Given the description of an element on the screen output the (x, y) to click on. 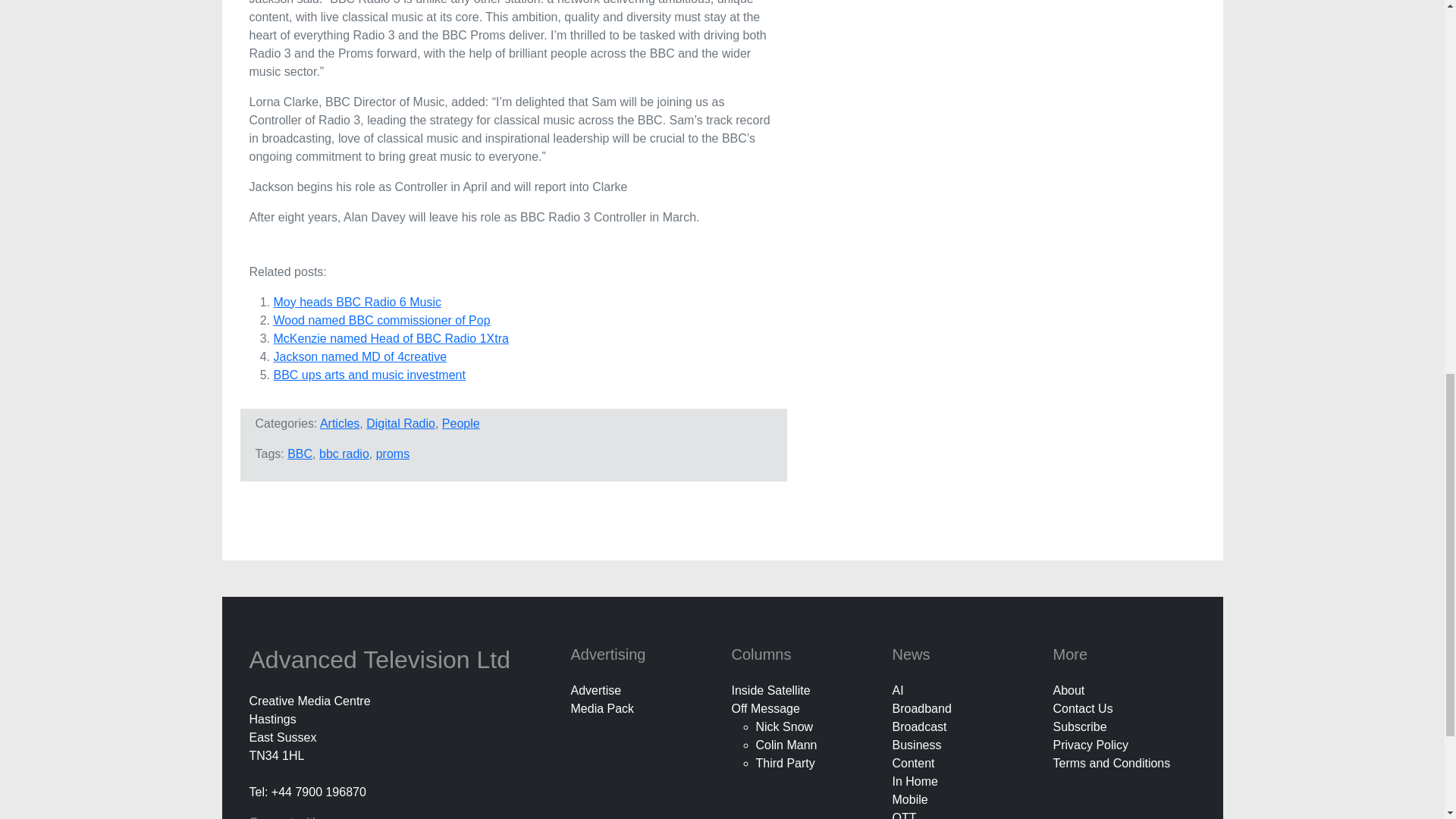
Wood named BBC commissioner of Pop (381, 319)
BBC (299, 453)
McKenzie named Head of BBC Radio 1Xtra (390, 338)
proms (392, 453)
Moy heads BBC Radio 6 Music (357, 301)
BBC ups arts and music investment (368, 374)
People (461, 422)
bbc radio (343, 453)
Jackson named MD of 4creative (359, 356)
BBC ups arts and music investment (368, 374)
